Given the description of an element on the screen output the (x, y) to click on. 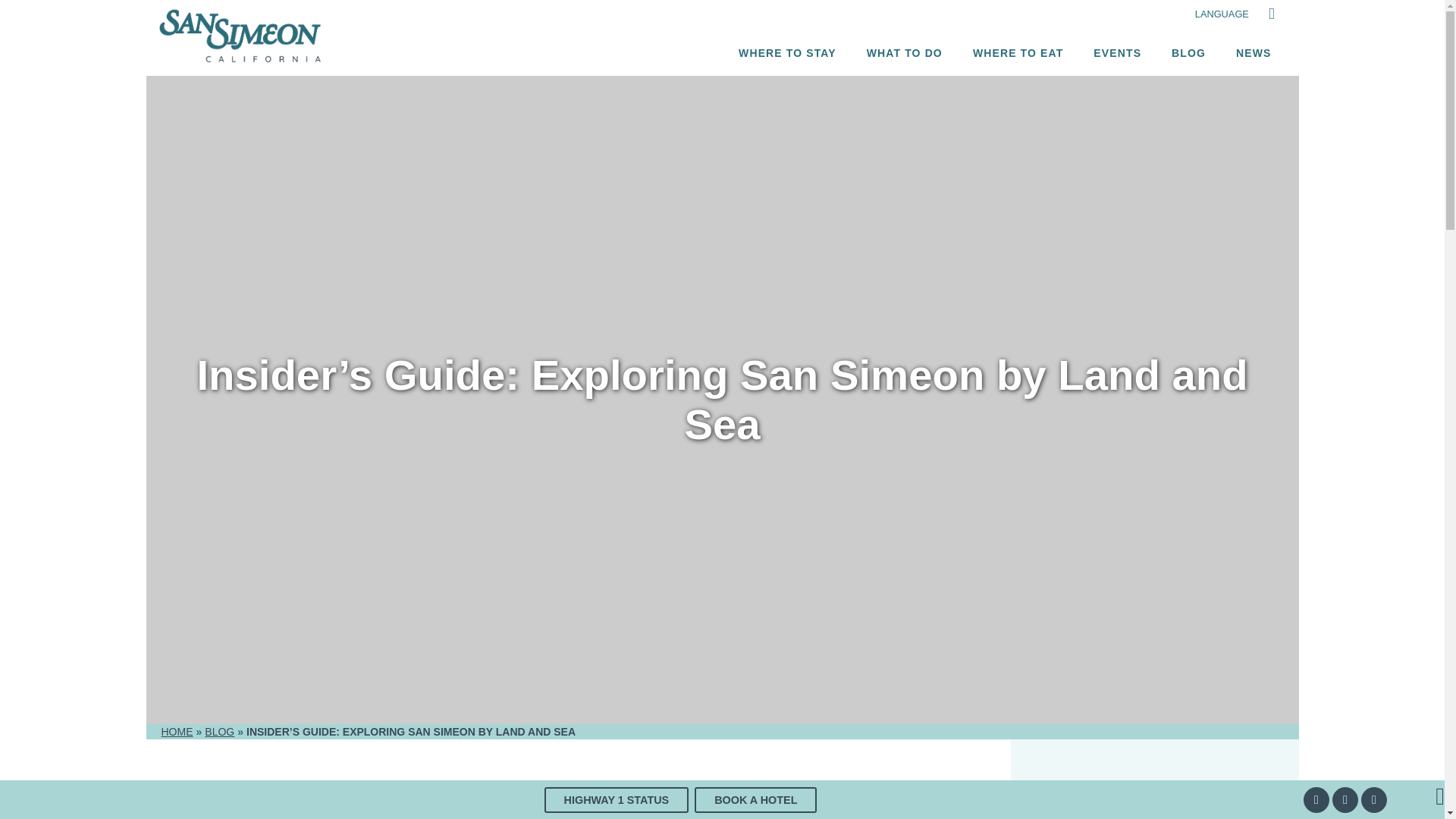
EVENTS (1117, 52)
WHAT TO DO (904, 52)
WHERE TO EAT (1018, 52)
BLOG (219, 731)
WHERE TO STAY (787, 52)
NEWS (1253, 52)
LANGUAGE (1222, 13)
BLOG (1188, 52)
HOME (176, 731)
